Given the description of an element on the screen output the (x, y) to click on. 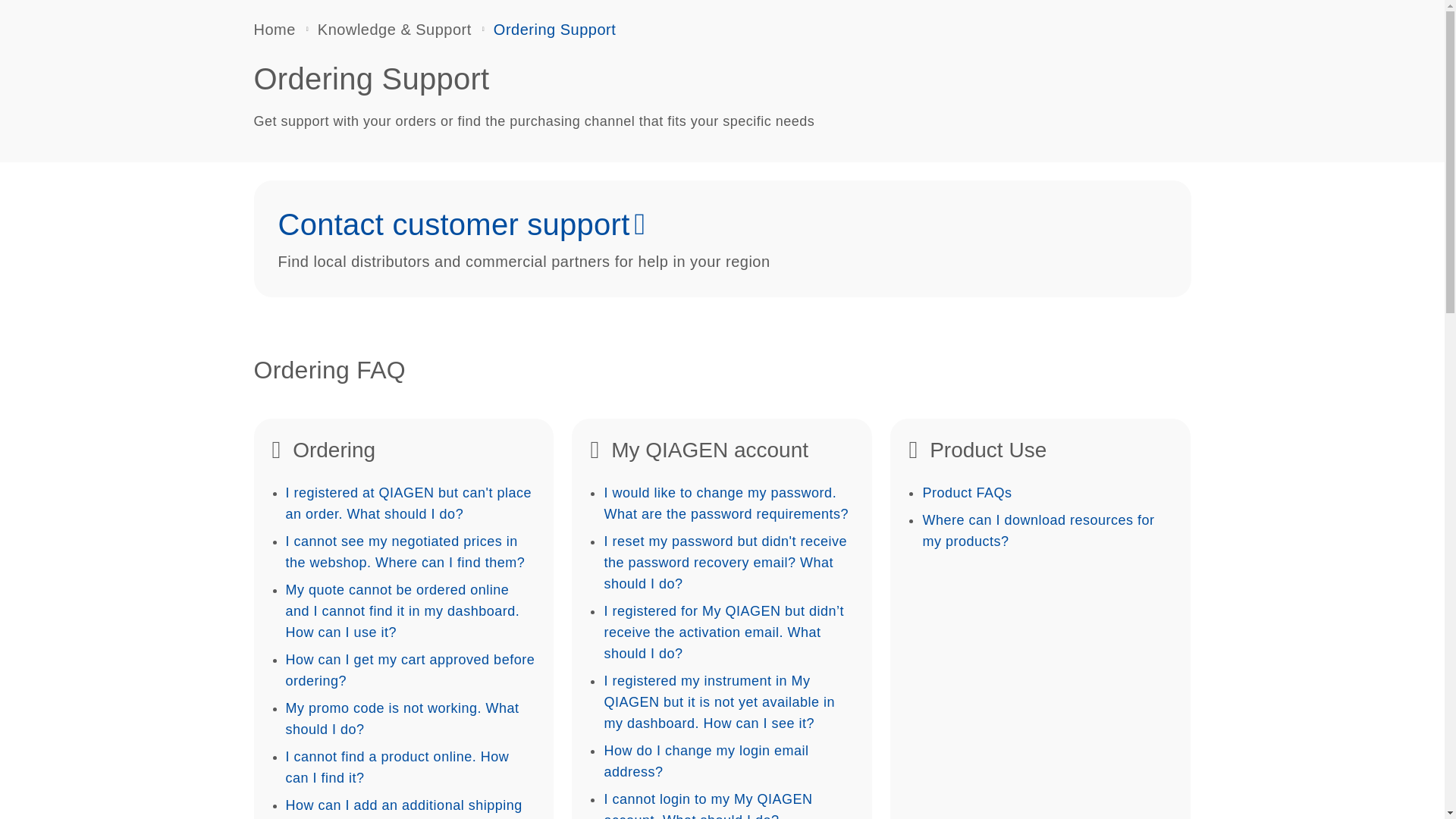
Home (274, 29)
Ordering Support (554, 29)
Contact customer support (453, 224)
Ordering Support (554, 29)
Home (274, 29)
How can I add an additional shipping or billing address? (403, 808)
Knowledge and Support (394, 29)
How can I get my cart approved before ordering? (409, 669)
My promo code is not working. What should I do? (401, 719)
I cannot login to my My QIAGEN account. What should I do? (708, 805)
